Given the description of an element on the screen output the (x, y) to click on. 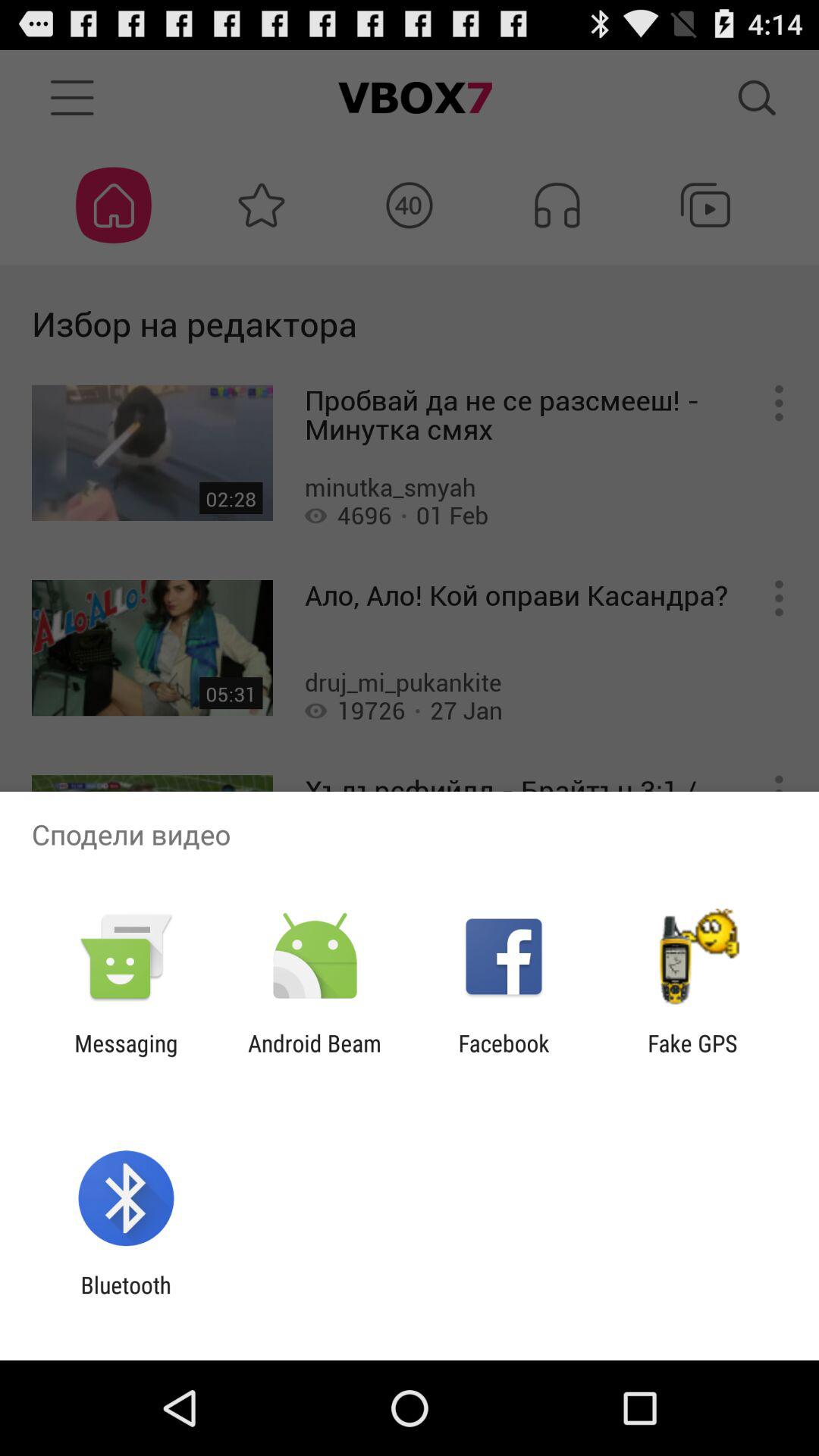
click icon next to android beam item (126, 1056)
